Given the description of an element on the screen output the (x, y) to click on. 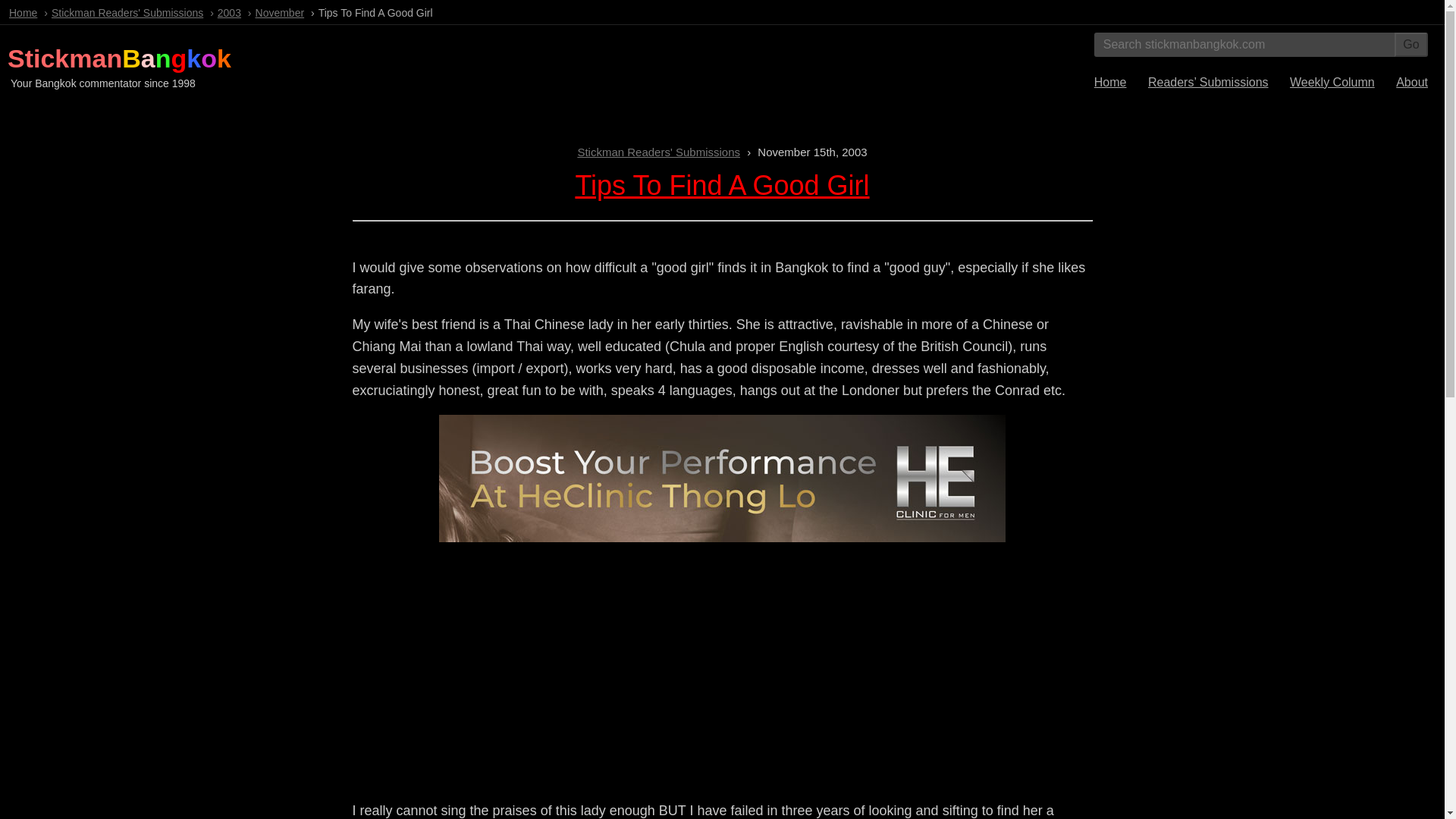
Stickman Readers' Submissions (657, 151)
Weekly Column (1332, 82)
Home (22, 12)
Stickman Readers' Submissions (126, 12)
November (280, 12)
Go (1411, 44)
2003 (228, 12)
About (1412, 82)
StickmanBangkok (119, 58)
Home (1109, 82)
